Given the description of an element on the screen output the (x, y) to click on. 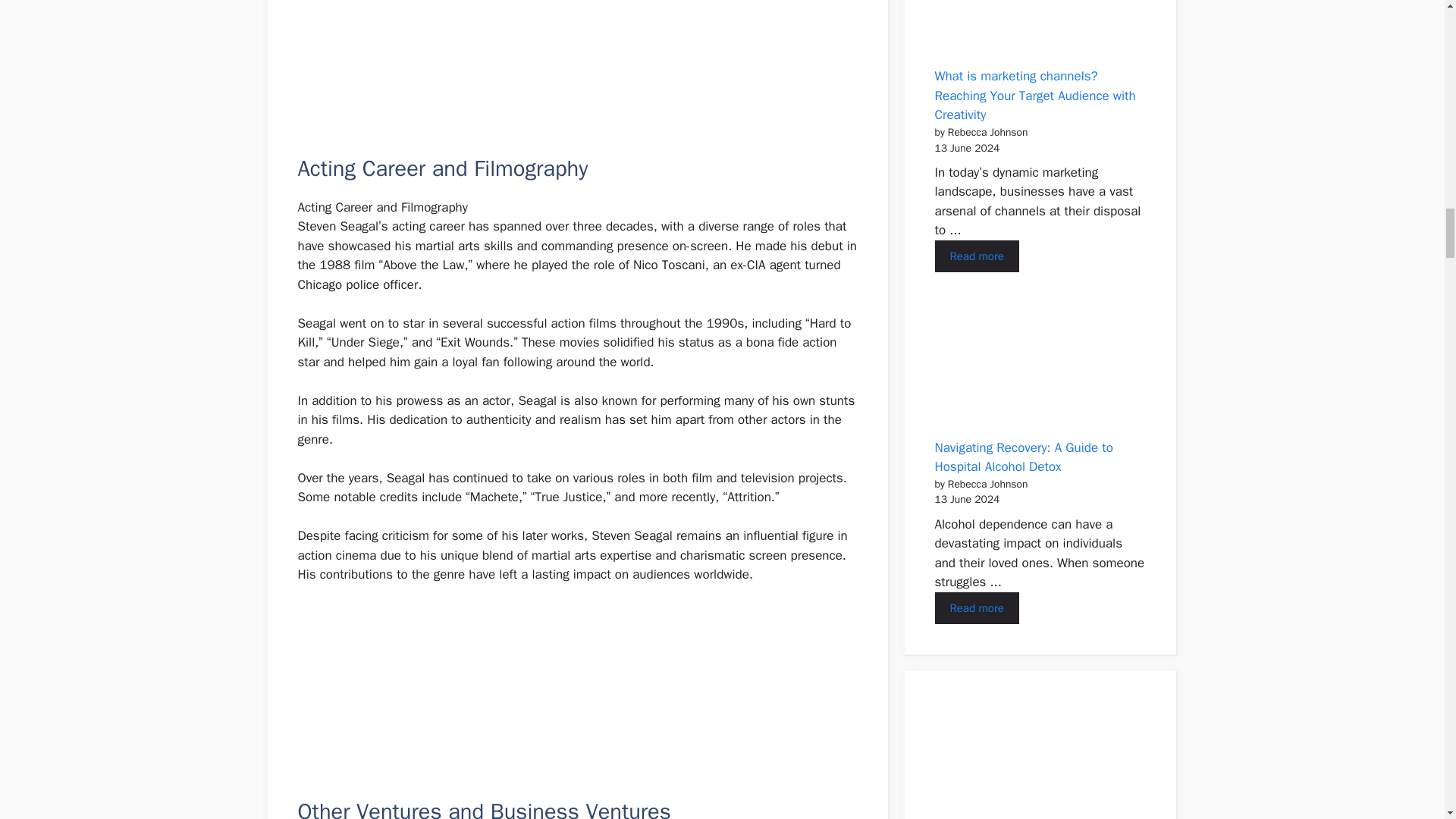
Navigating Recovery: A Guide to Hospital Alcohol Detox (975, 608)
